Given the description of an element on the screen output the (x, y) to click on. 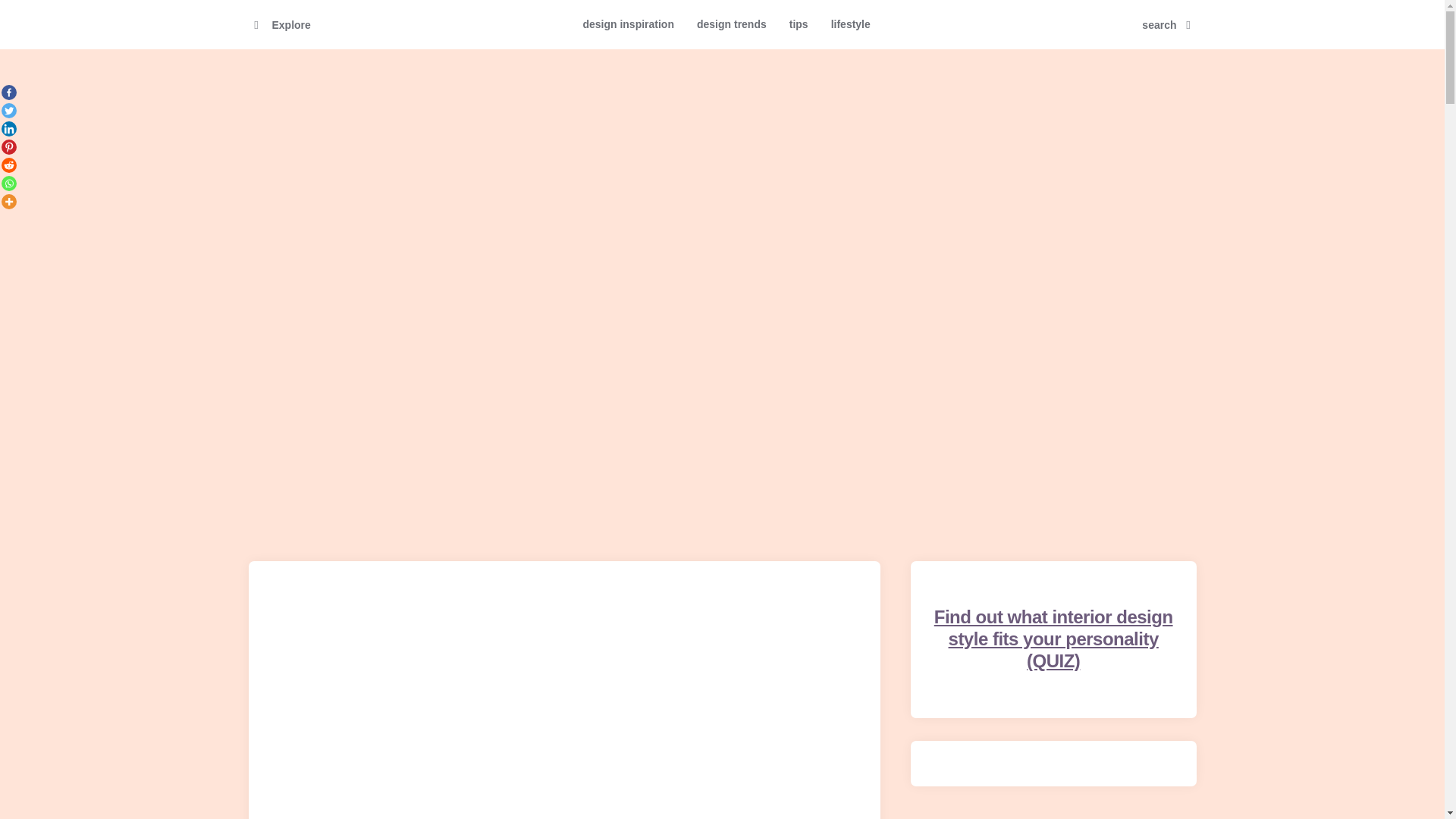
Pinterest (8, 146)
Facebook (8, 92)
design trends (731, 24)
tips (798, 24)
Linkedin (8, 128)
design inspiration (627, 24)
Reddit (8, 165)
lifestyle (850, 24)
Twitter (8, 110)
